Given the description of an element on the screen output the (x, y) to click on. 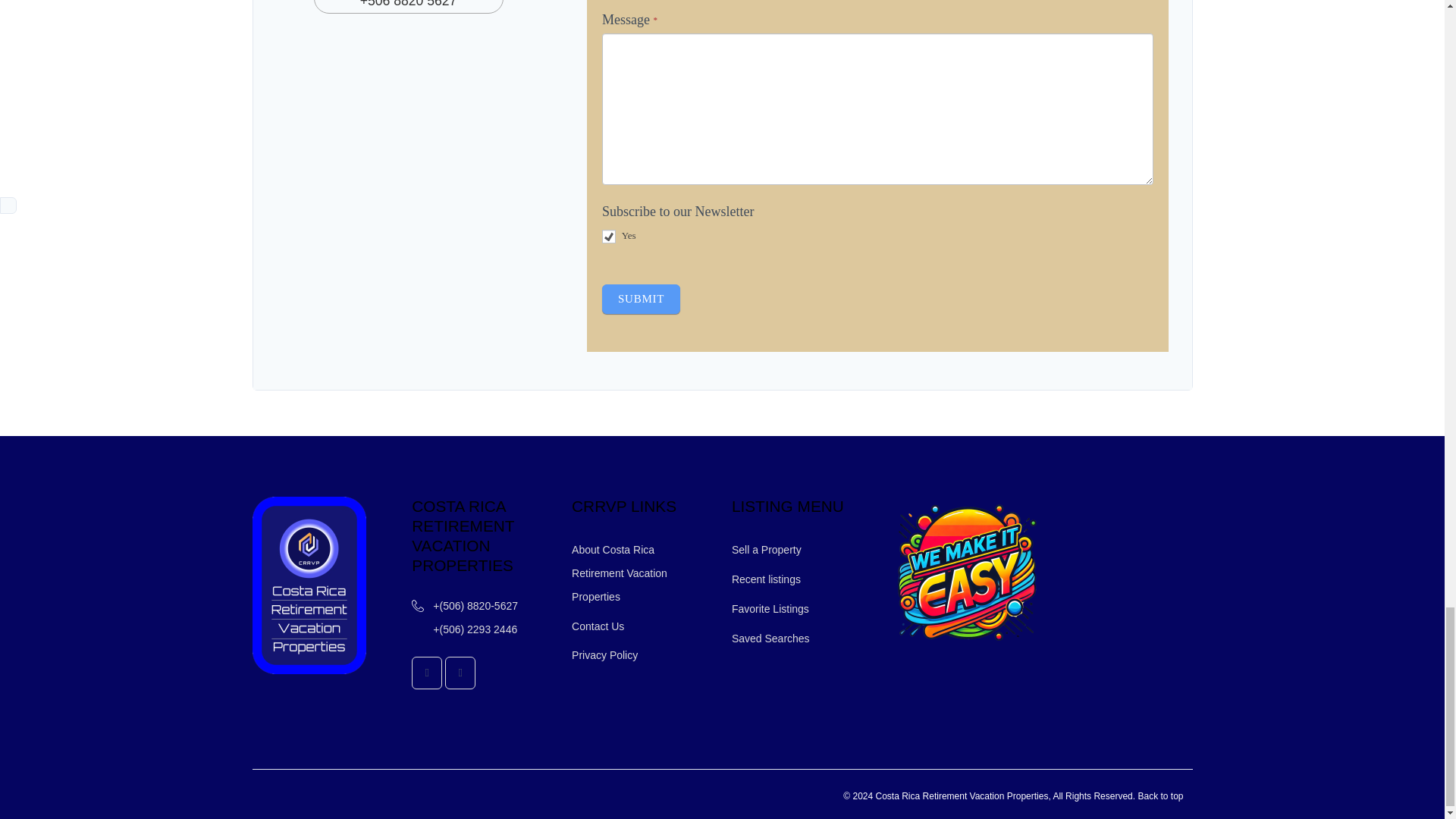
Yes (608, 236)
